Given the description of an element on the screen output the (x, y) to click on. 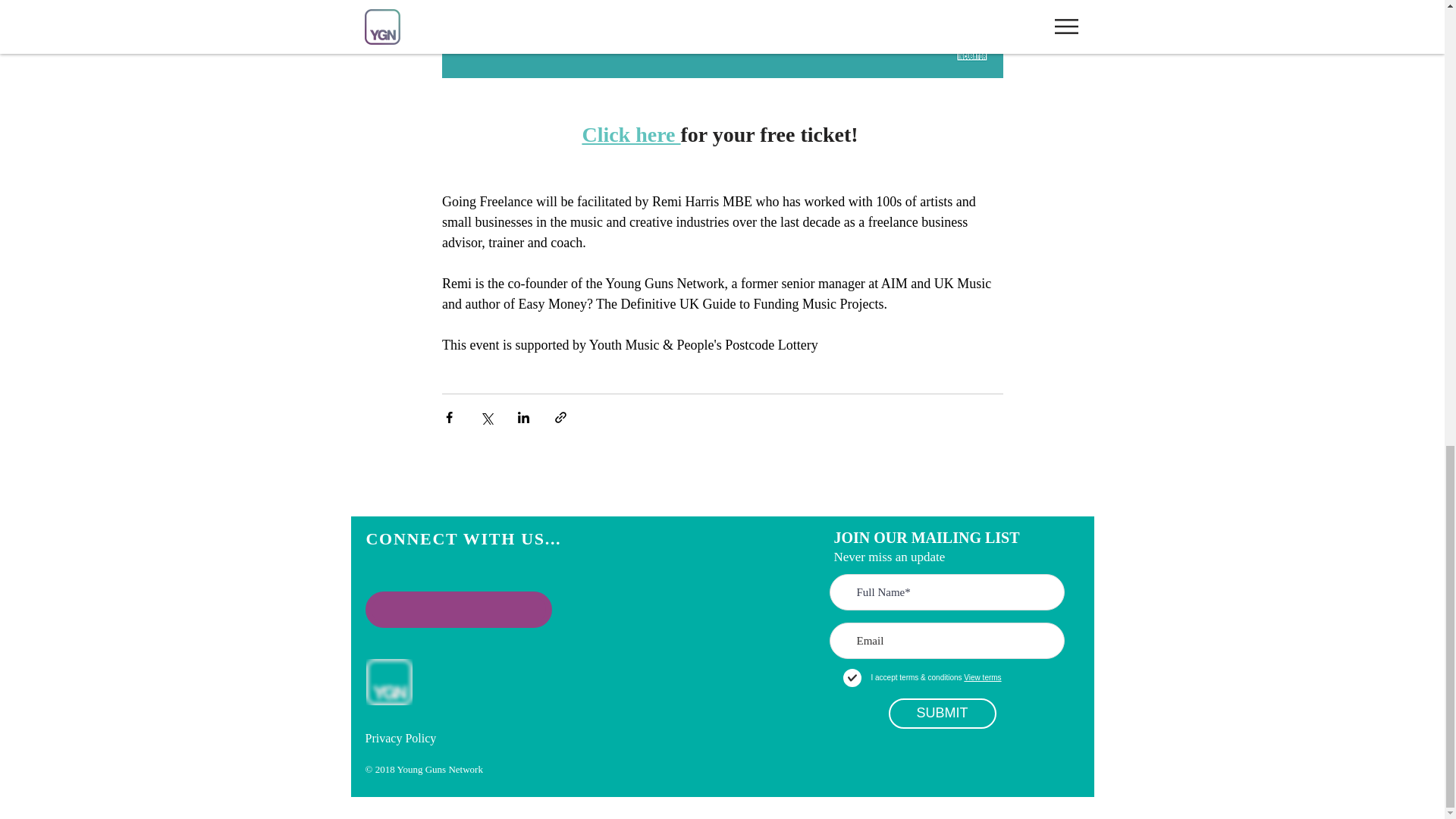
Privacy Policy (400, 738)
View terms (981, 677)
Click here  (629, 134)
SUBMIT (941, 713)
